Given the description of an element on the screen output the (x, y) to click on. 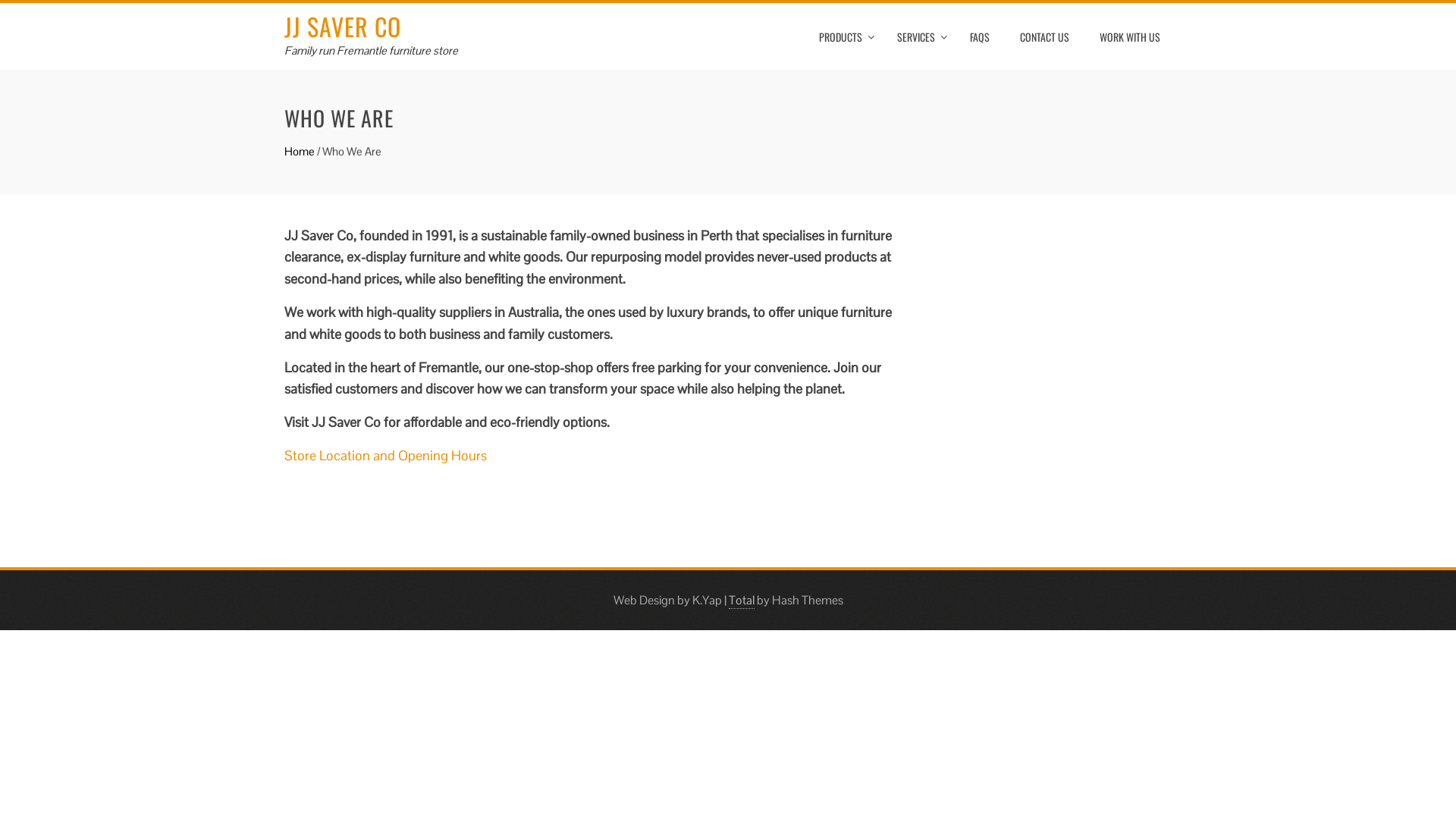
WORK WITH US Element type: text (1129, 36)
PRODUCTS Element type: text (842, 36)
CONTACT US Element type: text (1044, 36)
SERVICES Element type: text (917, 36)
Store Location and Opening Hours Element type: text (385, 455)
FAQS Element type: text (979, 36)
Total Element type: text (740, 600)
Home Element type: text (299, 151)
Family run Fremantle furniture store Element type: text (371, 50)
JJ SAVER CO Element type: text (342, 25)
